Given the description of an element on the screen output the (x, y) to click on. 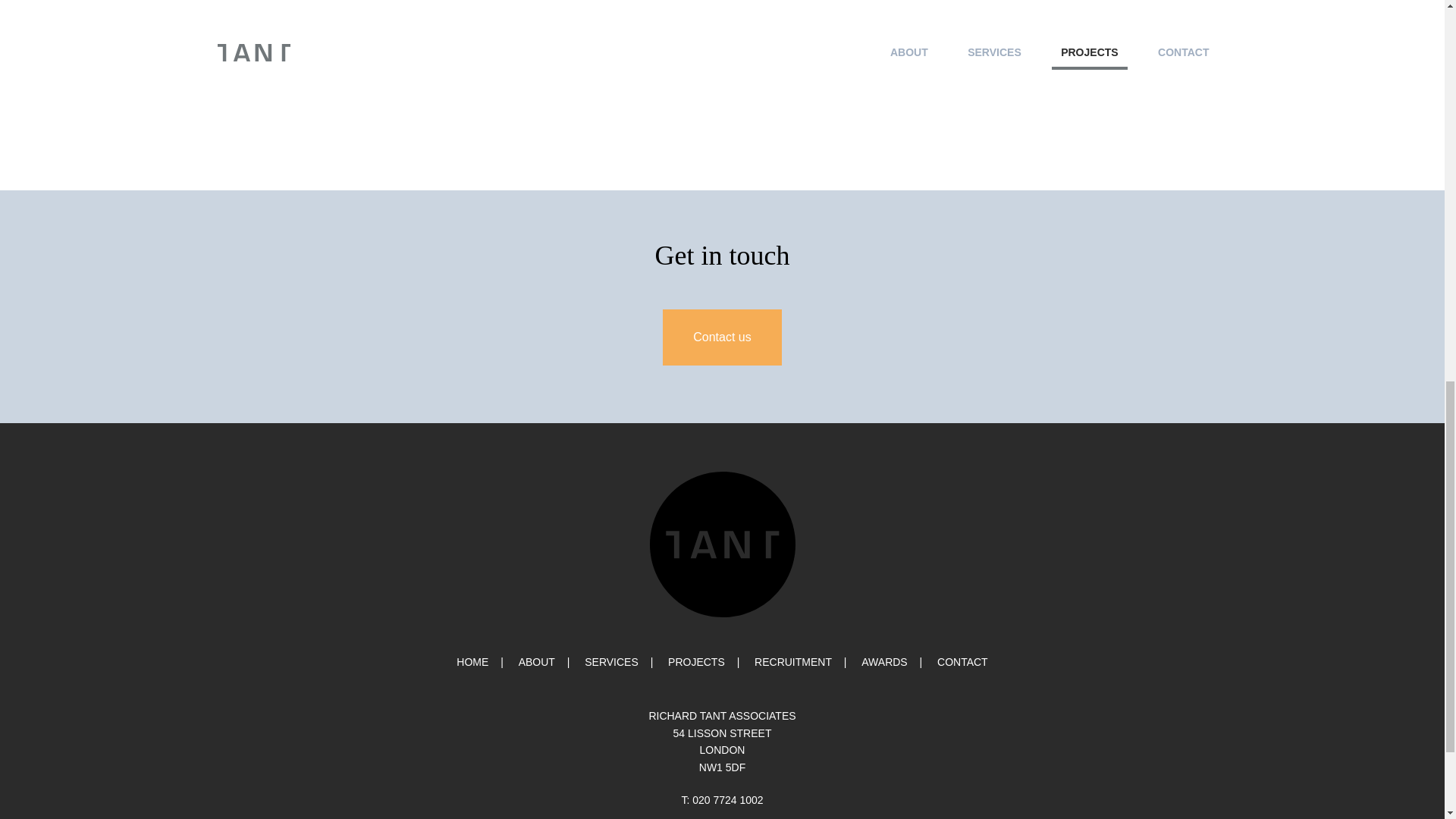
020 7724 1002 (727, 799)
Contact us (721, 337)
HOME (472, 661)
SERVICES (722, 741)
CONTACT (612, 661)
ABOUT (962, 661)
RECRUITMENT (536, 661)
AWARDS (792, 661)
PROJECTS (884, 661)
